Given the description of an element on the screen output the (x, y) to click on. 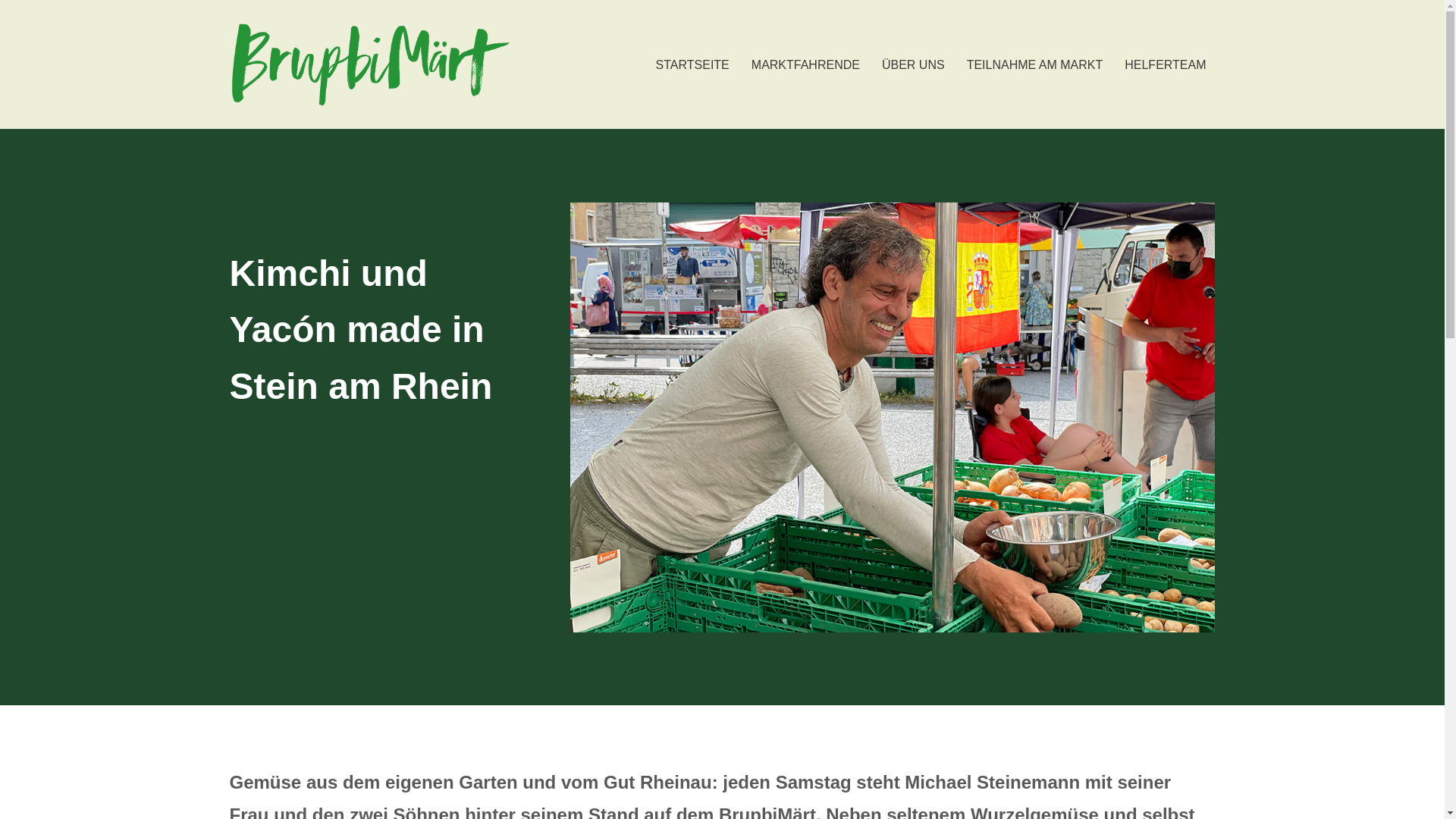
MARKTFAHRENDE Element type: text (805, 65)
STARTSEITE Element type: text (692, 65)
HELFERTEAM Element type: text (1164, 65)
TEILNAHME AM MARKT Element type: text (1034, 65)
